Given the description of an element on the screen output the (x, y) to click on. 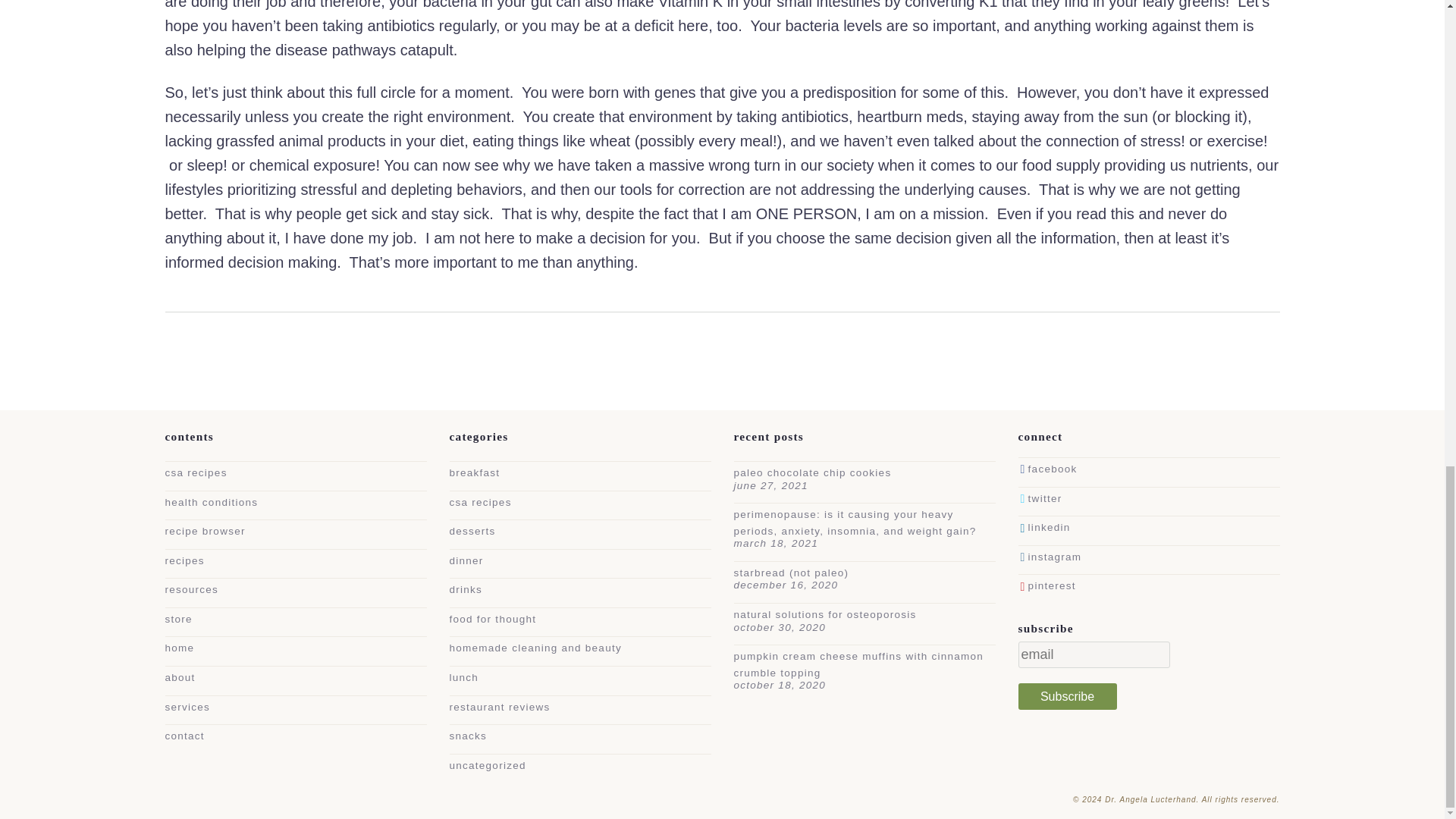
resources (192, 589)
csa recipes (479, 501)
recipes (185, 560)
recipe browser (205, 531)
health conditions (212, 501)
Dr. Angela Lucterhand (1190, 799)
services (188, 706)
home (180, 647)
csa recipes (196, 472)
desserts (471, 531)
store (178, 618)
contact (185, 736)
Subscribe (1066, 696)
breakfast (473, 472)
about (180, 677)
